Given the description of an element on the screen output the (x, y) to click on. 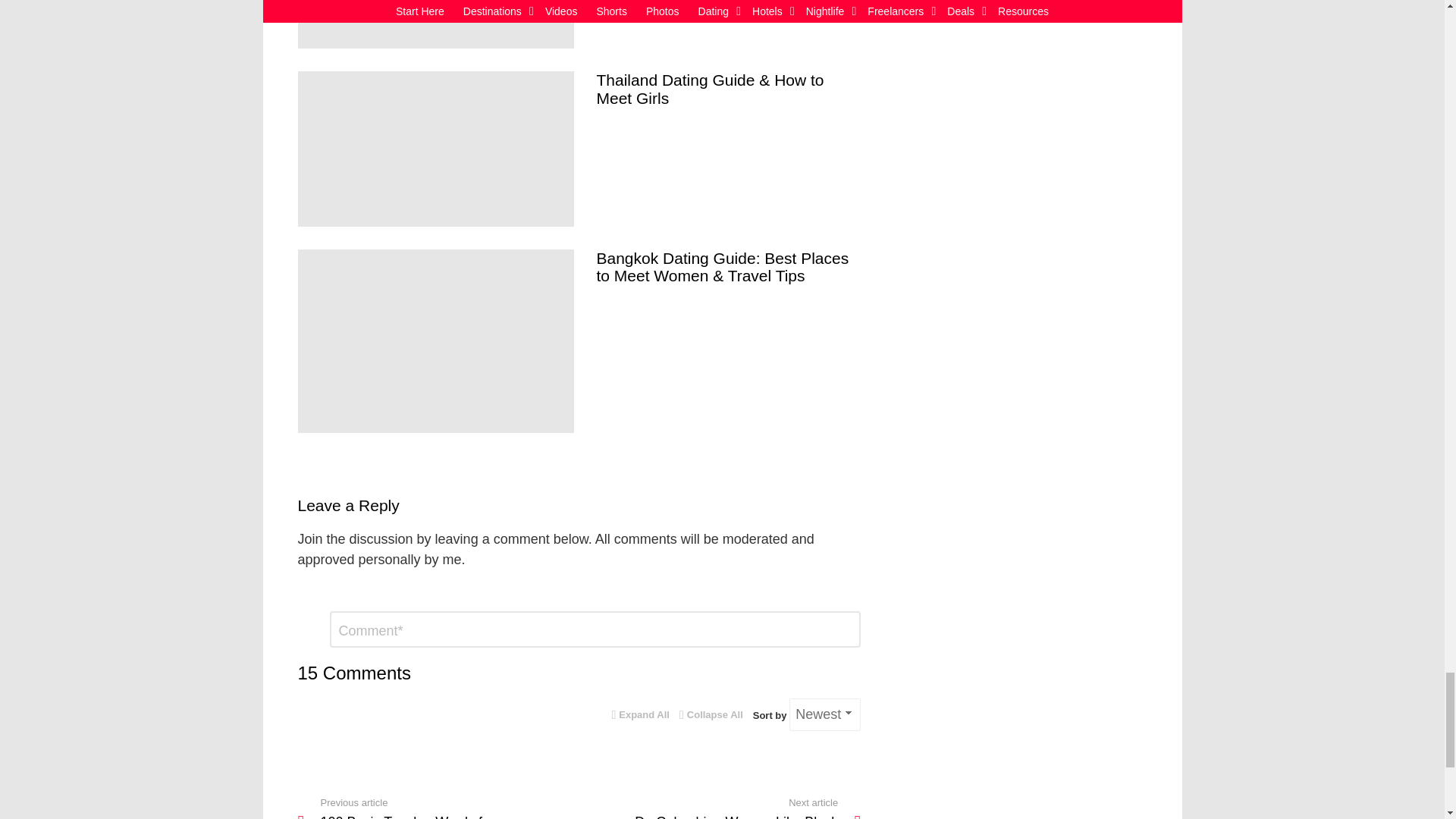
Expand All Replies (640, 715)
Collapse All Replies (710, 715)
